Given the description of an element on the screen output the (x, y) to click on. 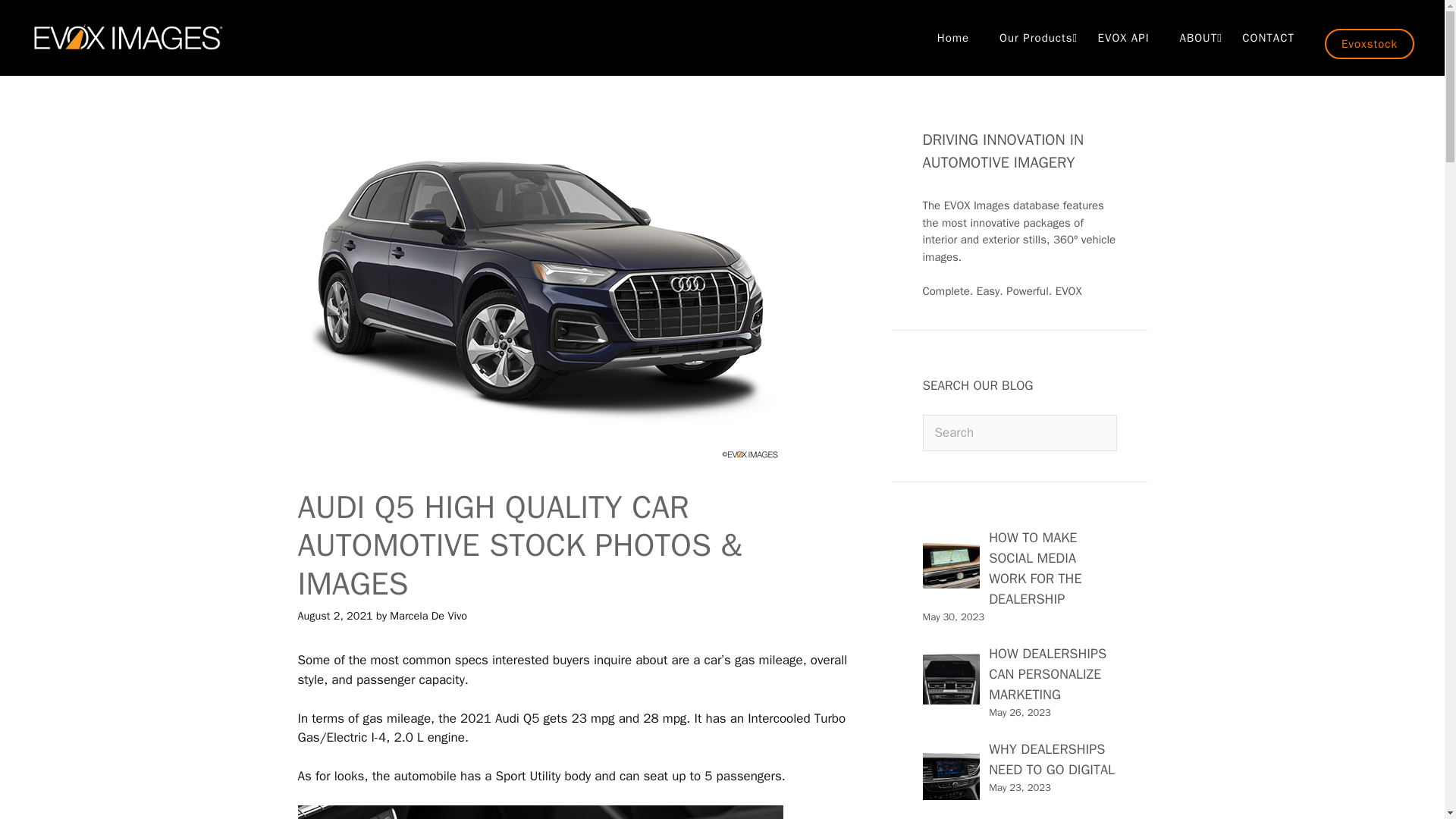
HOW TO MAKE SOCIAL MEDIA WORK FOR THE DEALERSHIP (1034, 567)
Evoxstock (1368, 43)
Our Products (1032, 37)
ABOUT (1195, 37)
HOW DEALERSHIPS CAN PERSONALIZE MARKETING (1047, 674)
EVOX API (1123, 37)
Marcela De Vivo (428, 615)
CONTACT (1267, 37)
WHY DEALERSHIPS NEED TO GO DIGITAL (1051, 760)
View all posts by Marcela De Vivo (428, 615)
Home (952, 37)
